Given the description of an element on the screen output the (x, y) to click on. 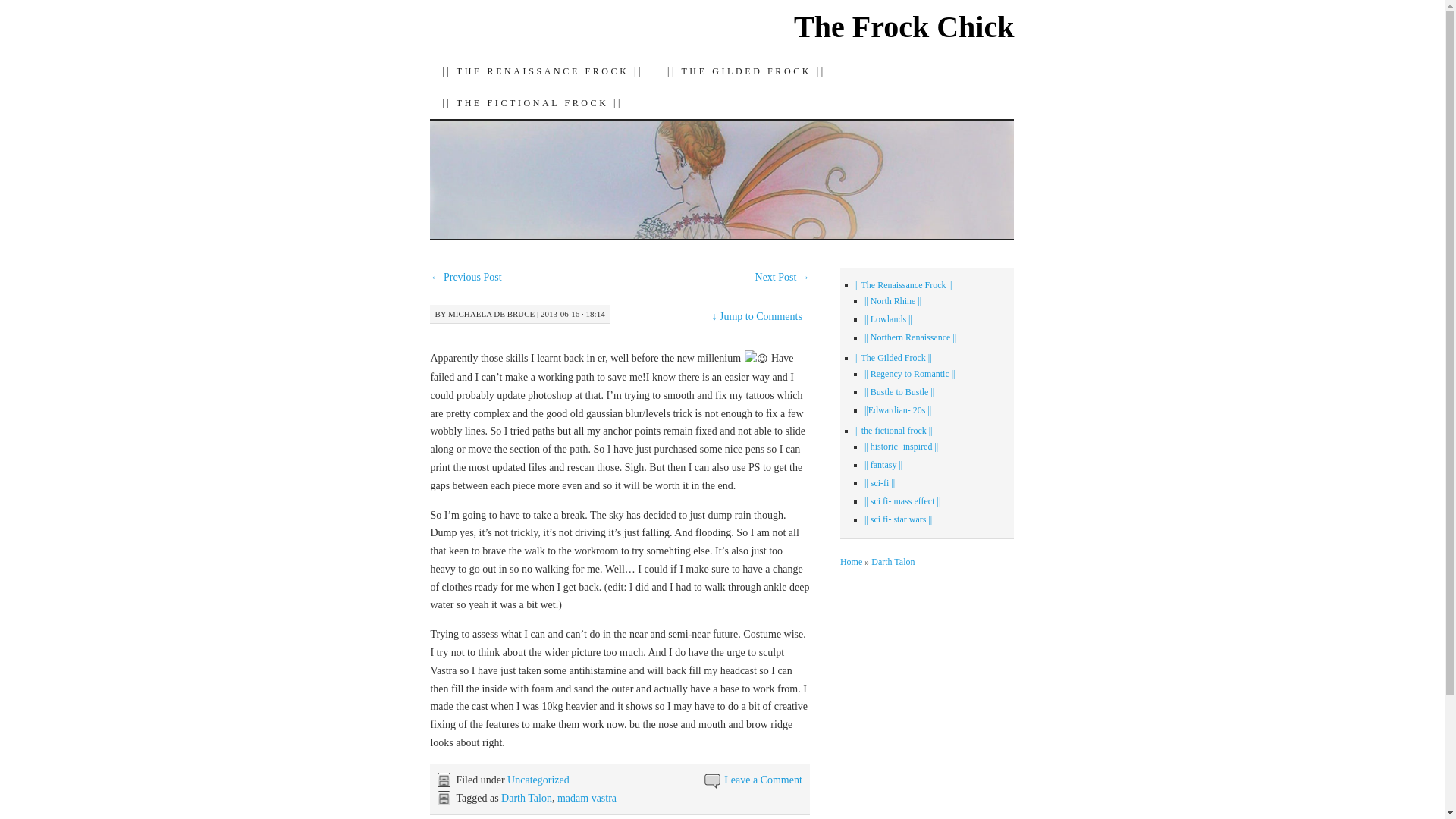
Darth Talon (525, 797)
MICHAELA DE BRUCE (491, 313)
Uncategorized (537, 779)
View all posts by Michaela de Bruce (491, 313)
The Frock Chick (903, 26)
The Frock Chick (903, 26)
Leave a Comment (762, 779)
madam vastra (586, 797)
